Given the description of an element on the screen output the (x, y) to click on. 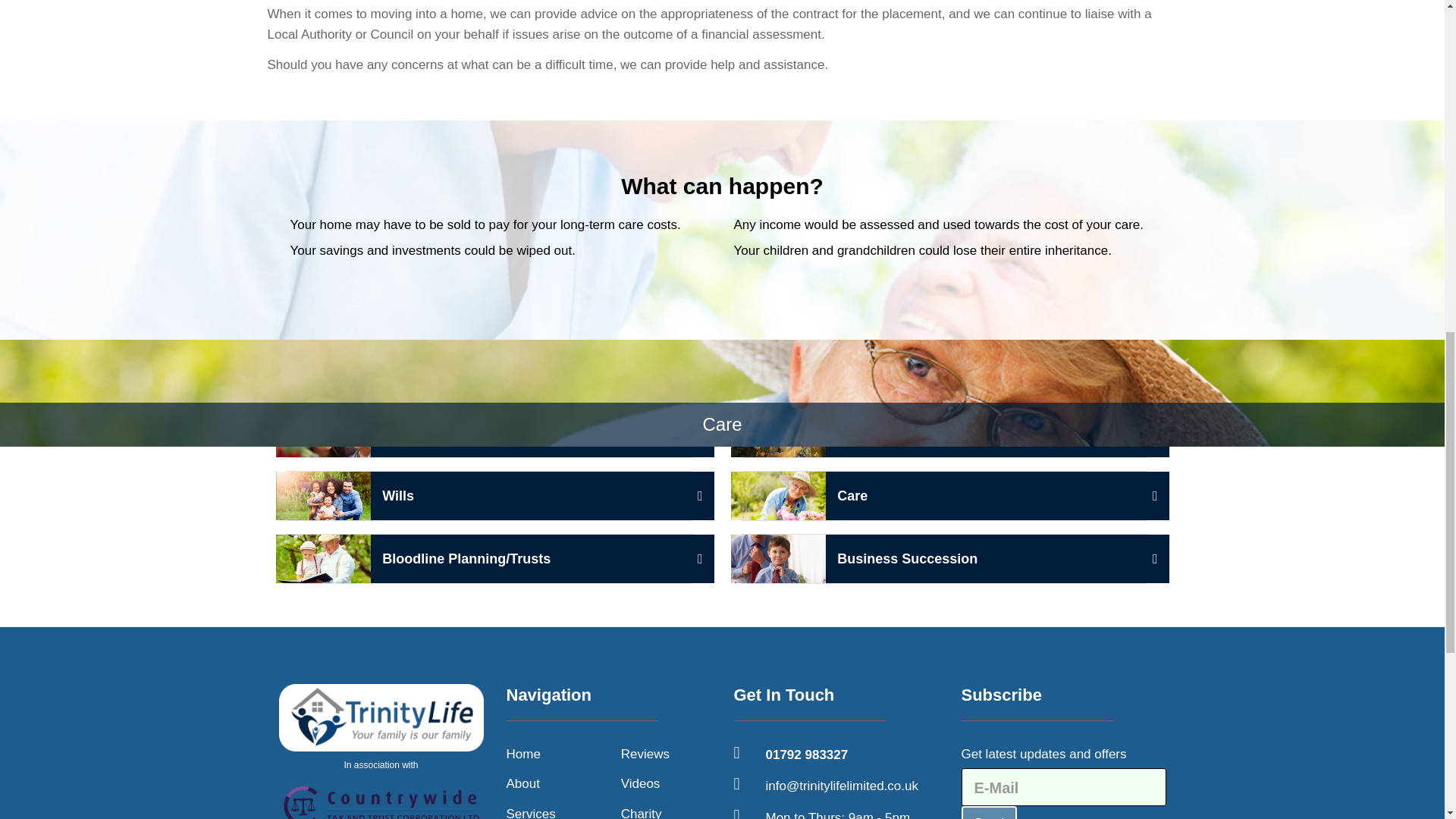
Probate (944, 432)
Wills (489, 495)
Care (944, 495)
Lasting Powers of Attorney (489, 432)
Services (381, 751)
Home (531, 811)
Business Succession (523, 753)
About (944, 558)
